Given the description of an element on the screen output the (x, y) to click on. 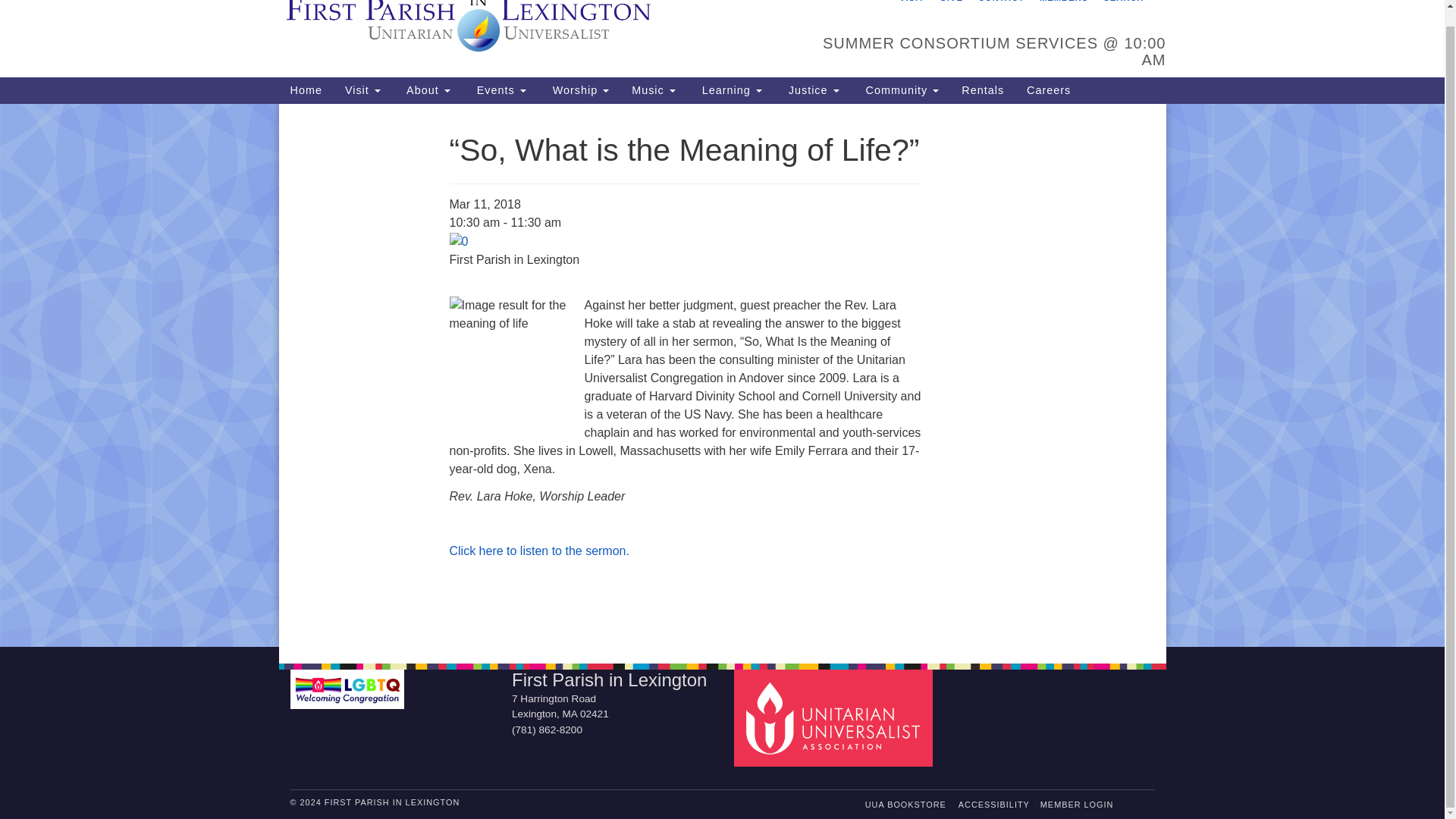
Visit (362, 90)
SEARCH (1122, 2)
 Events (499, 90)
VISIT (911, 2)
Home (306, 90)
 Worship (579, 90)
Visit (362, 90)
About (426, 90)
CONTACT (1000, 2)
Home (306, 90)
MEMBERS (1063, 2)
 About (426, 90)
